Given the description of an element on the screen output the (x, y) to click on. 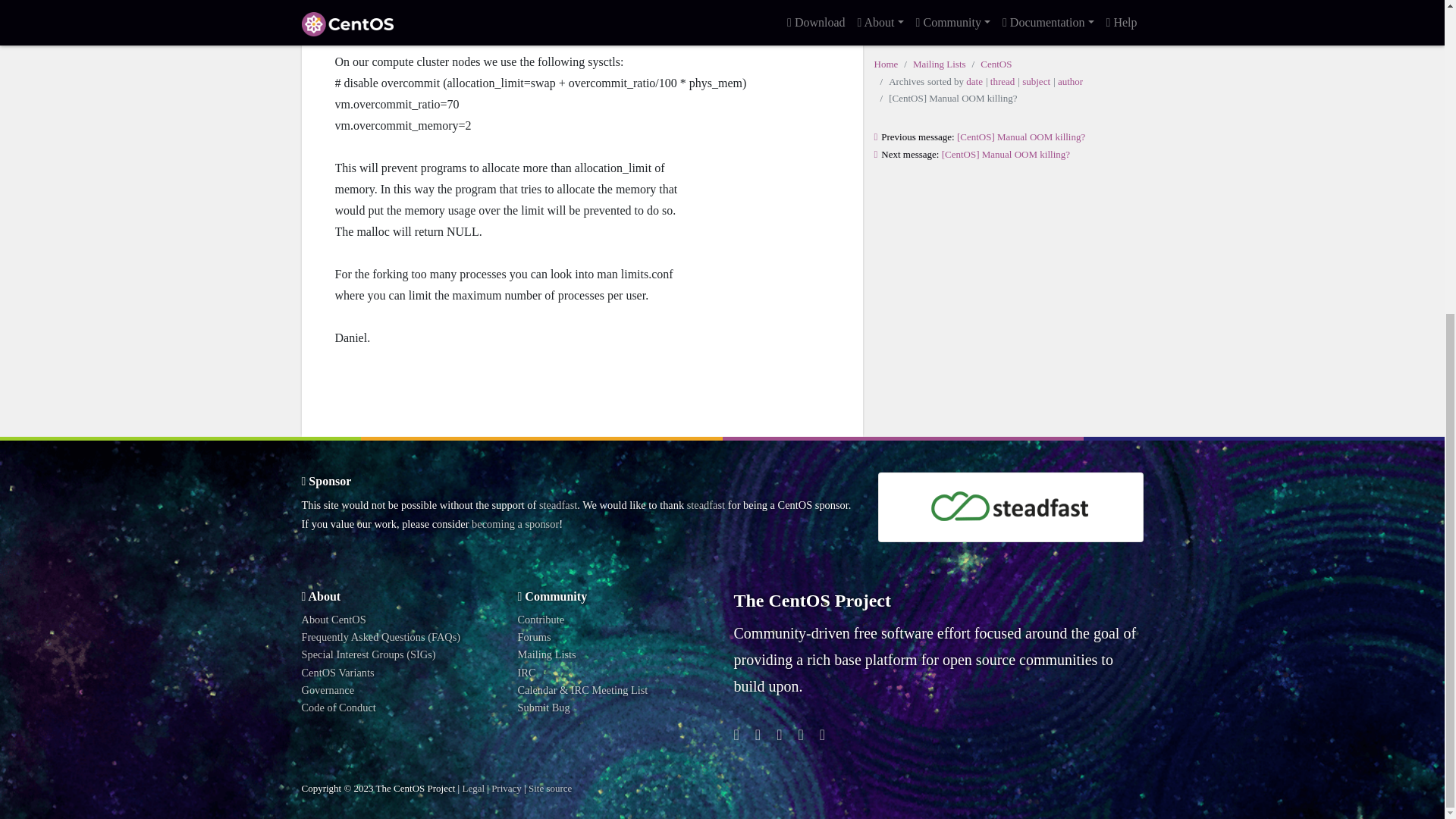
steadfast (706, 504)
becoming a sponsor (515, 523)
About CentOS (333, 619)
steadfast (557, 504)
